Given the description of an element on the screen output the (x, y) to click on. 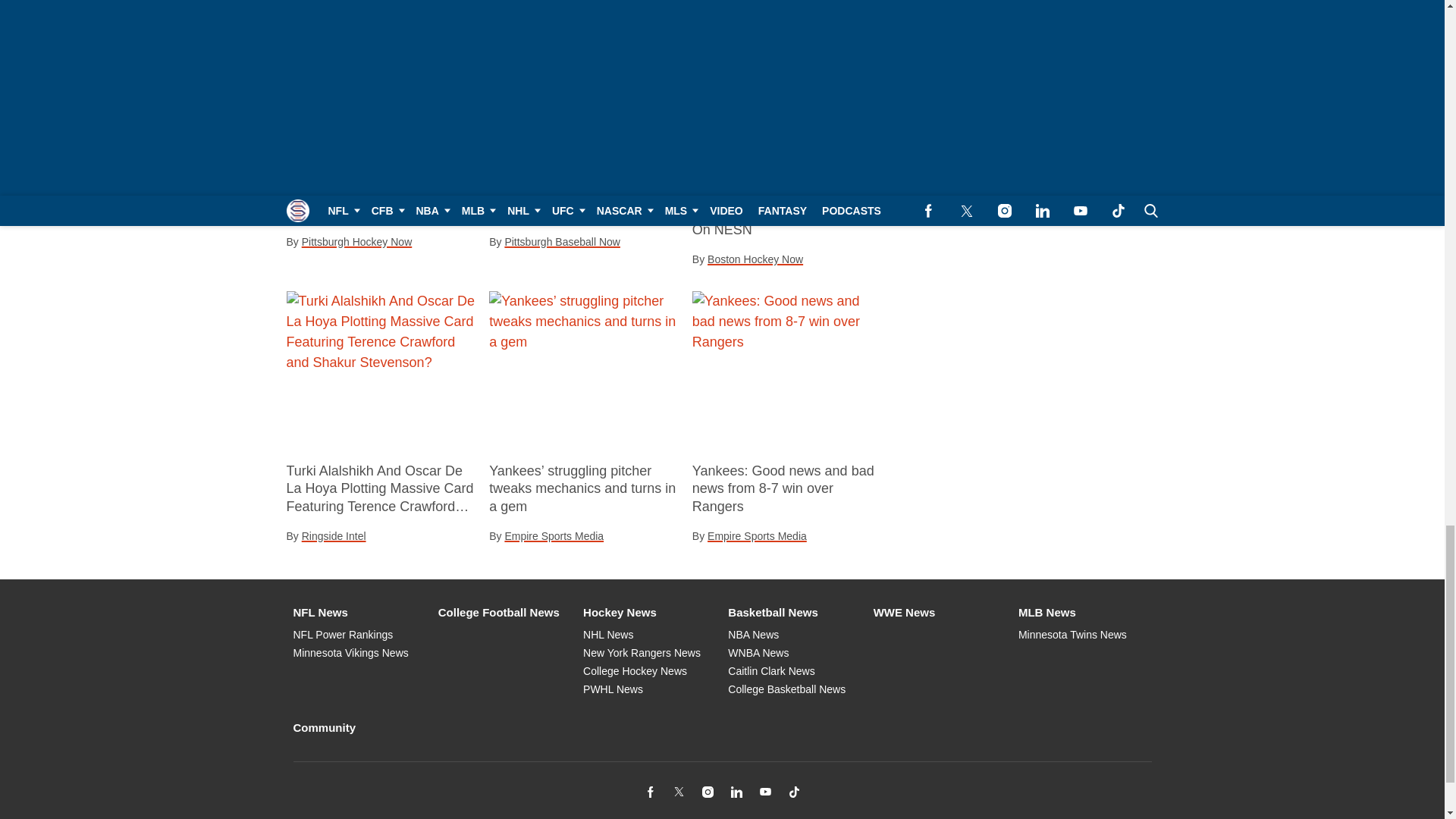
Connect with us on LinkedIn (736, 791)
Subscribe to our YouTube channel (765, 791)
Follow us on Twitter (678, 791)
Follow us on Facebook (650, 791)
Connect with us on TikTok (794, 791)
Follow us on Instagram (707, 791)
